Given the description of an element on the screen output the (x, y) to click on. 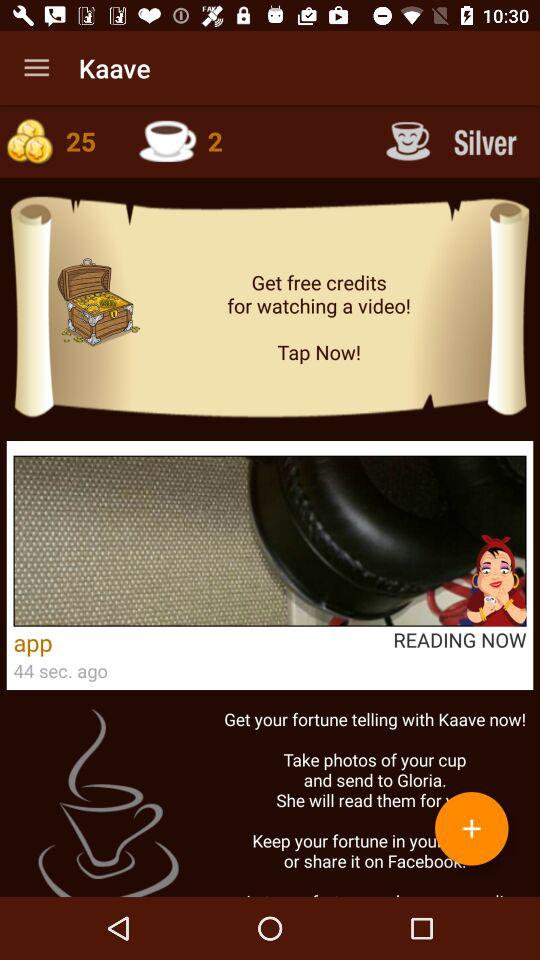
go to coins (59, 141)
